Given the description of an element on the screen output the (x, y) to click on. 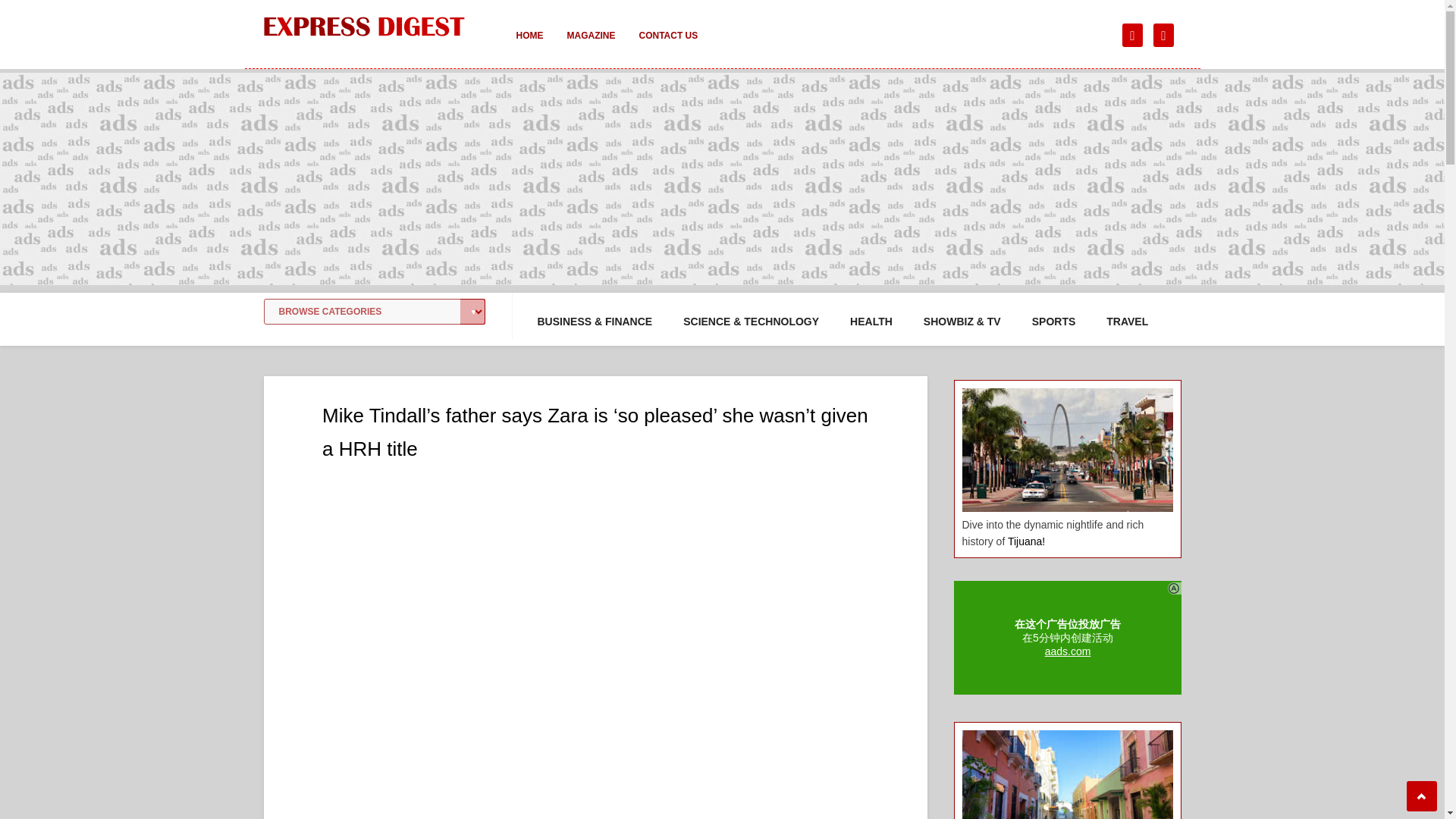
HEALTH (871, 321)
CONTACT US (667, 45)
TRAVEL (1127, 321)
Tijuana! (1026, 541)
SPORTS (1053, 321)
MAGAZINE (590, 45)
